Given the description of an element on the screen output the (x, y) to click on. 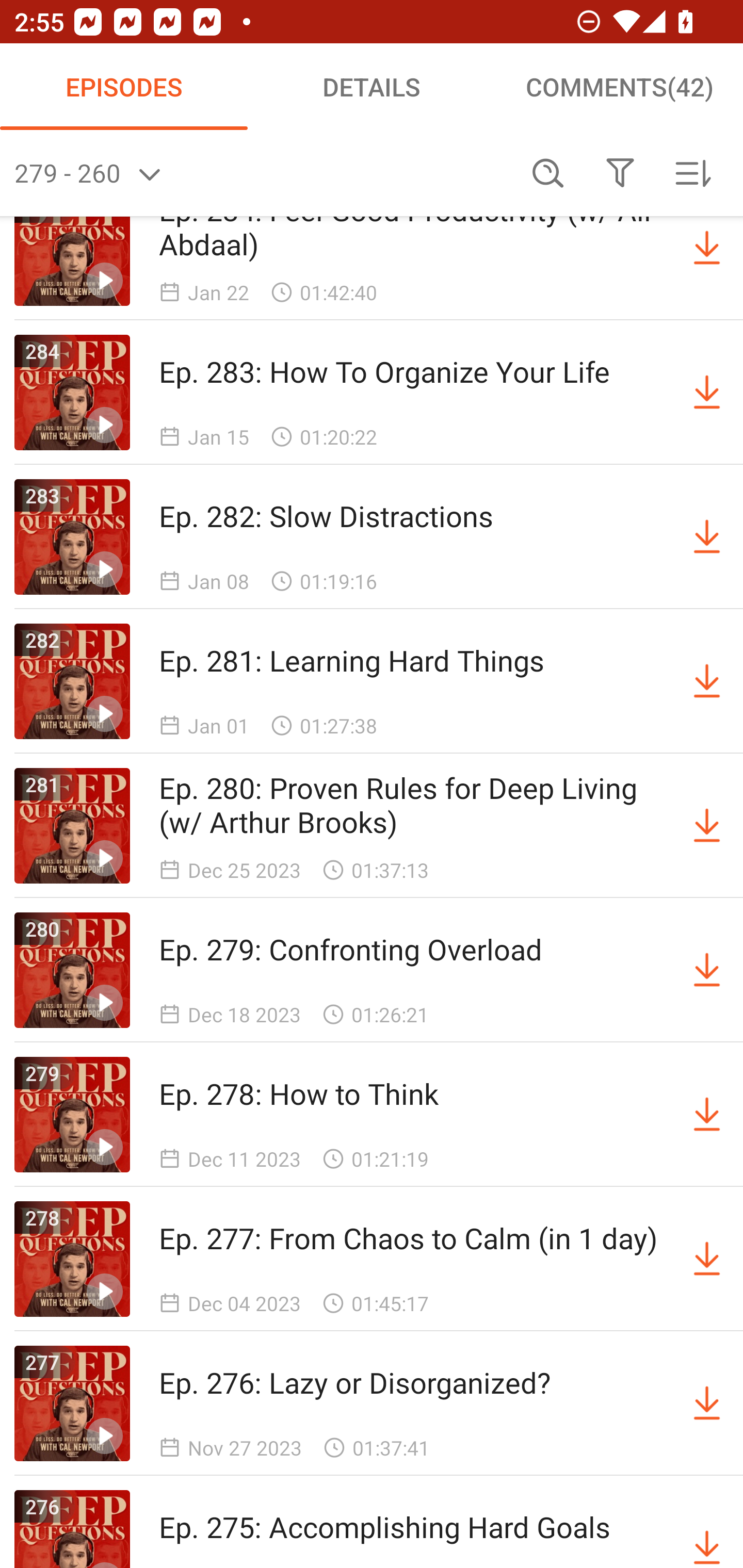
EPISODES (123, 86)
DETAILS (371, 86)
COMMENTS(42) (619, 86)
279 - 260  (262, 173)
 Search (547, 173)
 (619, 173)
 Sorted by newest first (692, 173)
Download (706, 247)
Download (706, 391)
Download (706, 536)
Download (706, 681)
Download (706, 825)
Download (706, 970)
Download (706, 1114)
Download (706, 1259)
Download (706, 1403)
Download (706, 1528)
